Given the description of an element on the screen output the (x, y) to click on. 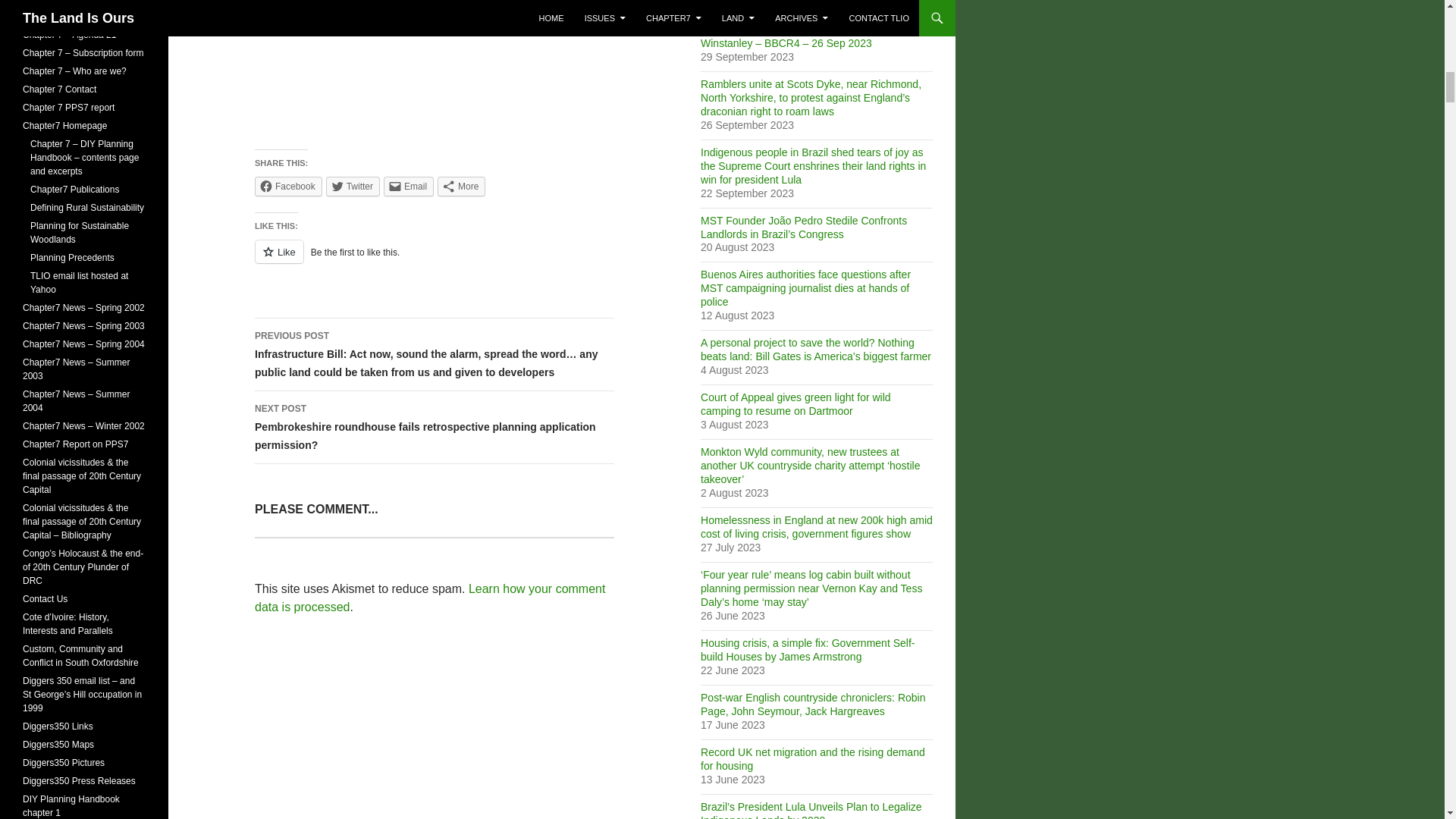
Click to share on Twitter (353, 186)
Click to share on Facebook (287, 186)
Like or Reblog (434, 260)
Click to email this to a friend (408, 186)
